Given the description of an element on the screen output the (x, y) to click on. 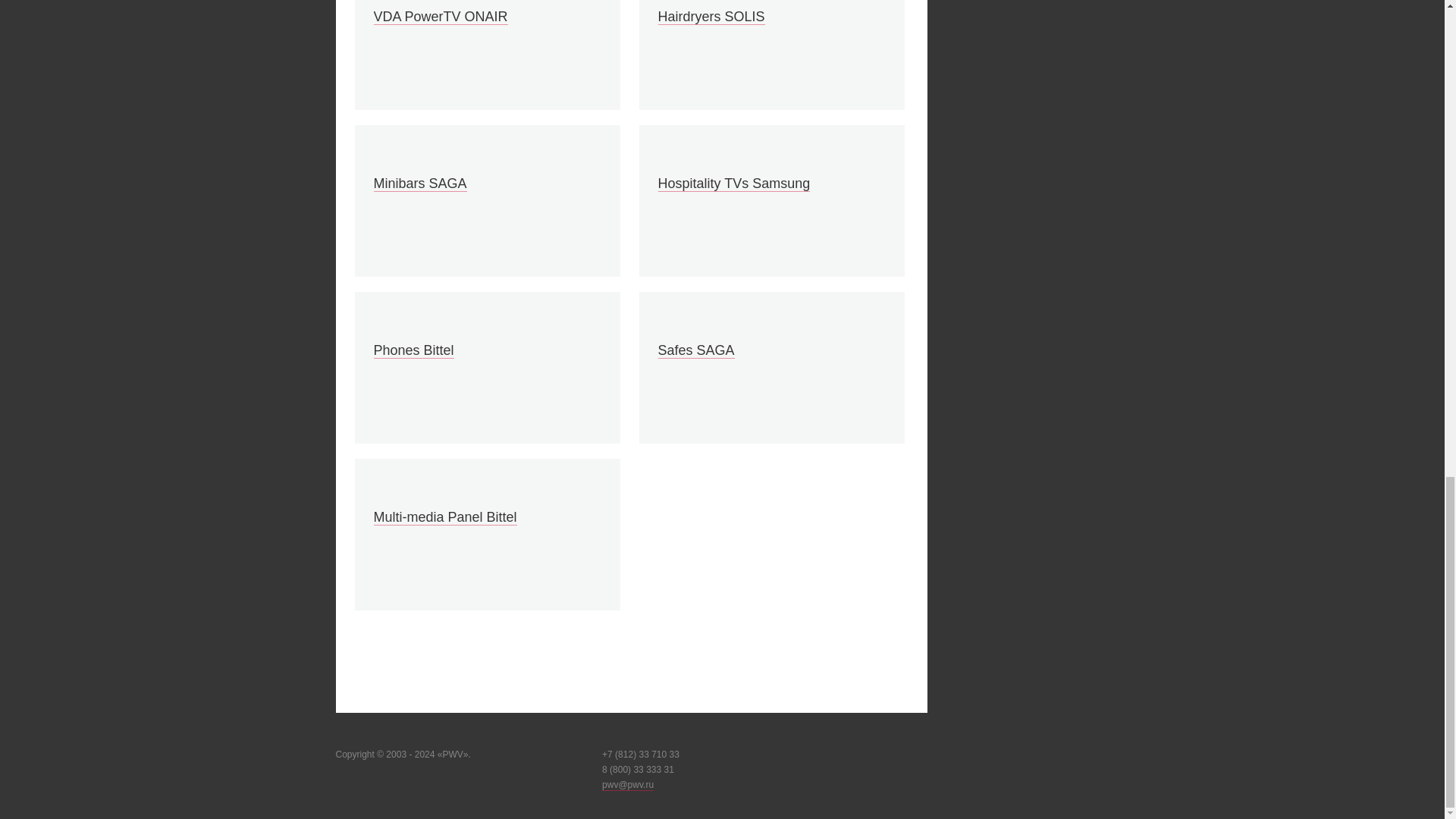
Phones Bittel (412, 350)
Minibars SAGA (418, 183)
VDA PowerTV ONAIR (439, 17)
Safes SAGA (696, 350)
Multi-media Panel Bittel (444, 517)
Hospitality TVs Samsung (734, 183)
Hairdryers SOLIS (711, 17)
